Given the description of an element on the screen output the (x, y) to click on. 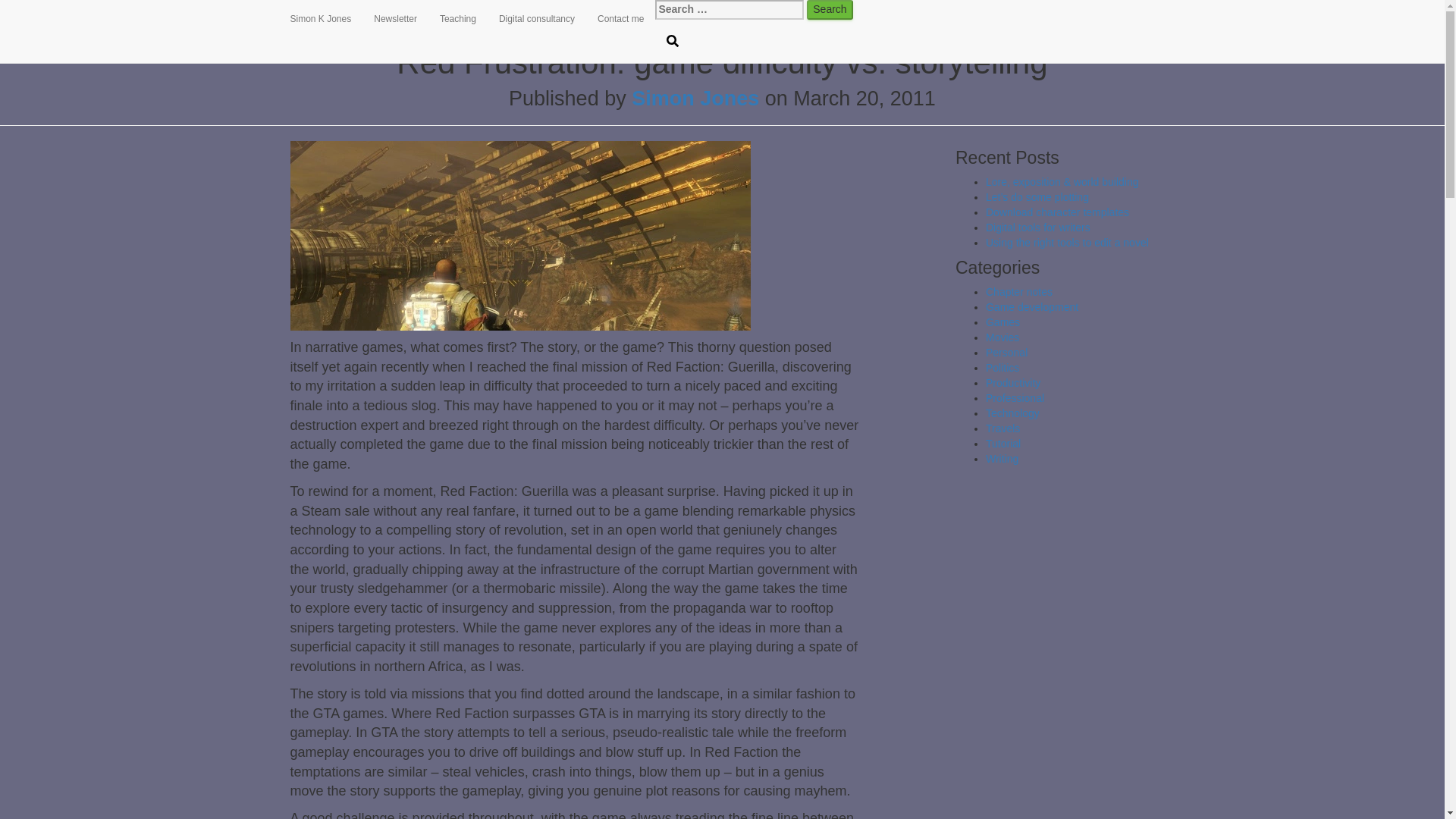
Using the right tools to edit a novel (1066, 242)
Contact me (620, 18)
Newsletter (395, 18)
Simon Jones (694, 97)
Teaching (457, 18)
Search (828, 9)
Chapter notes (1018, 291)
Download character templates (1057, 212)
Contact me (620, 18)
Newsletter (395, 18)
Digital consultancy (536, 18)
Simon K Jones (320, 18)
Digital tools for writers (1037, 227)
Digital consultancy (536, 18)
Search (828, 9)
